Given the description of an element on the screen output the (x, y) to click on. 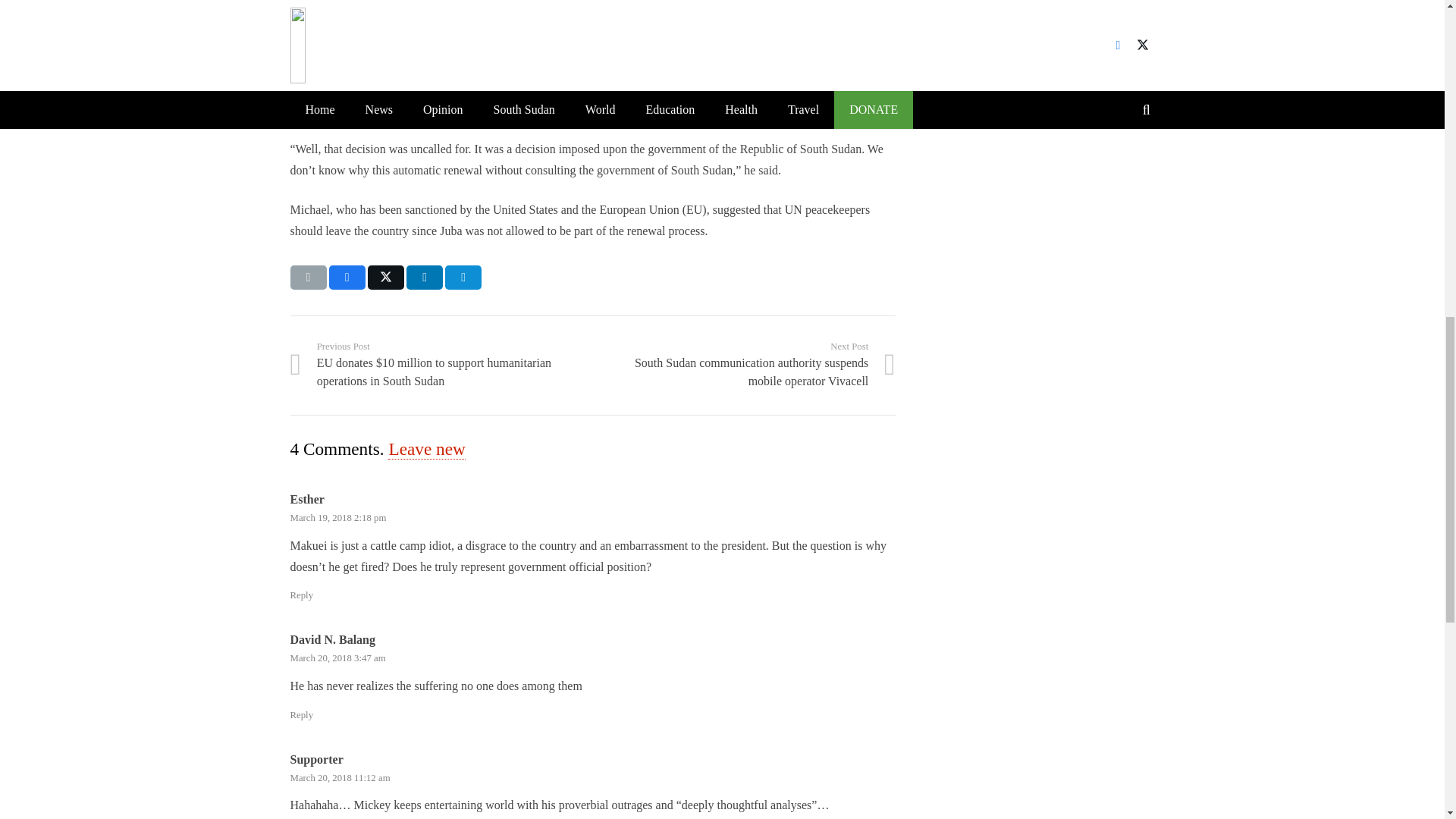
March 20, 2018 3:47 am (337, 657)
Reply (301, 715)
Tweet this (386, 277)
Leave new (426, 448)
March 20, 2018 11:12 am (339, 777)
Share this (463, 277)
March 19, 2018 2:18 pm (337, 517)
March 19, 2018 2:18 pm (337, 517)
Share this (424, 277)
